Given the description of an element on the screen output the (x, y) to click on. 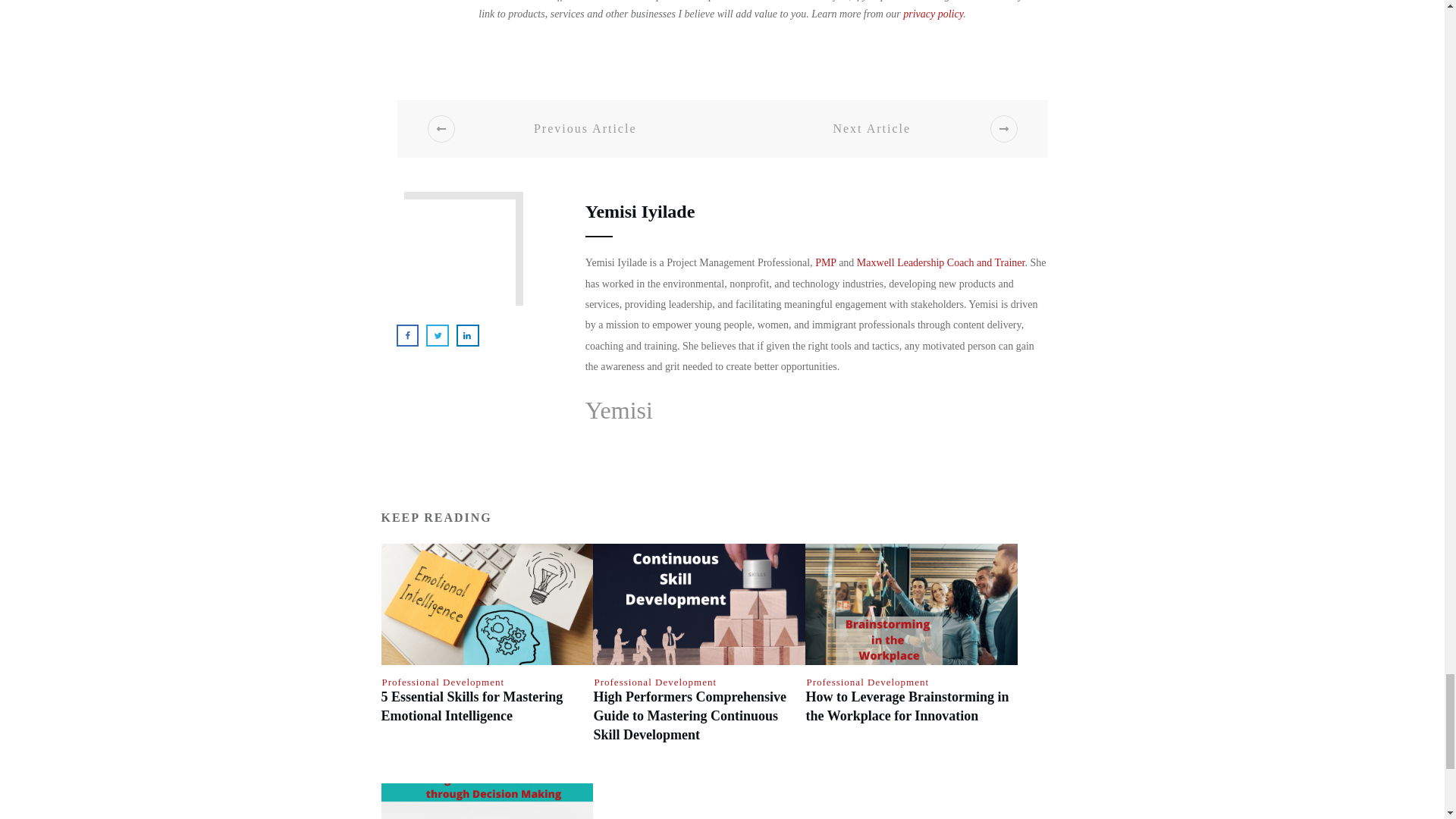
Split Top with Sidebar (455, 255)
Professional Development (867, 681)
Previous Article (566, 128)
Professional Development (655, 681)
5 Essential Skills for Mastering Emotional Intelligence (471, 706)
privacy policy (932, 13)
Professional Development (443, 681)
Next Article (891, 128)
